Given the description of an element on the screen output the (x, y) to click on. 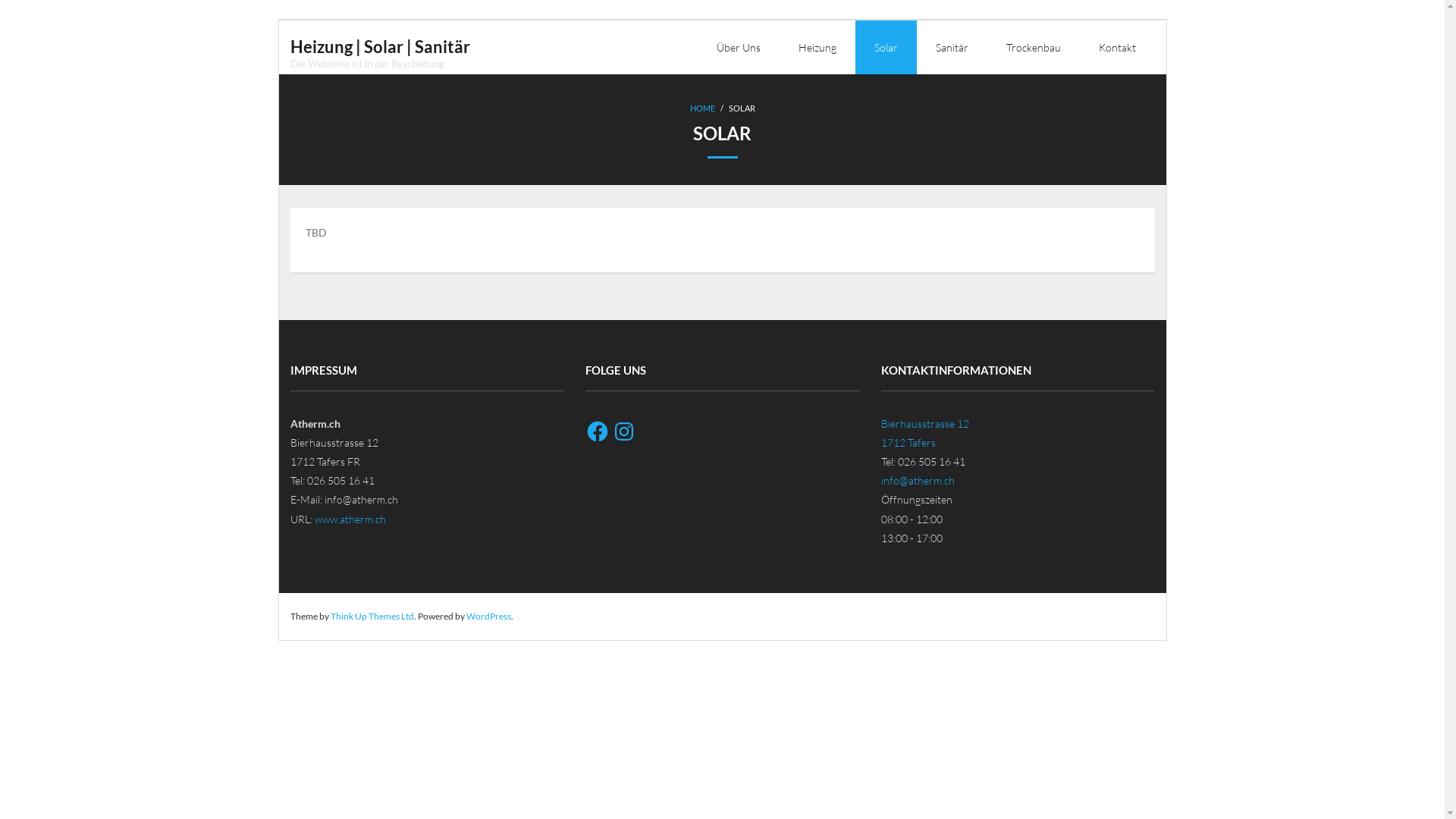
Instagram Element type: text (623, 431)
Skip to content Element type: text (277, 18)
Bierhausstrasse 12
1712 Tafers Element type: text (925, 432)
Solar Element type: text (885, 47)
www.atherm.ch Element type: text (349, 518)
Facebook Element type: text (597, 431)
HOME Element type: text (702, 107)
WordPress Element type: text (487, 615)
info@atherm.ch Element type: text (917, 479)
Think Up Themes Ltd Element type: text (372, 615)
Kontakt Element type: text (1116, 47)
Heizung Element type: text (817, 47)
Trockenbau Element type: text (1033, 47)
